Given the description of an element on the screen output the (x, y) to click on. 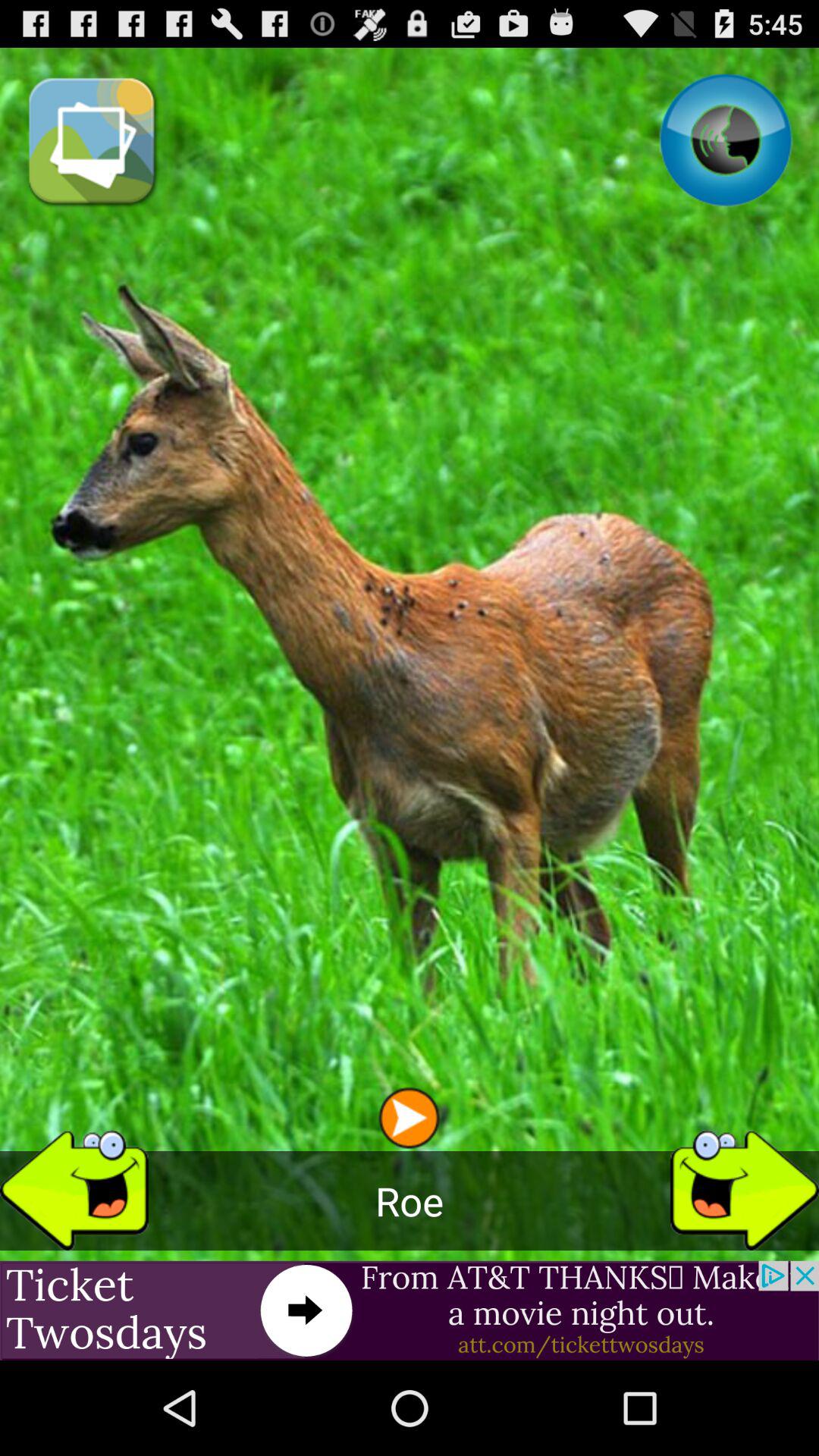
click the app above roe icon (408, 1117)
